Given the description of an element on the screen output the (x, y) to click on. 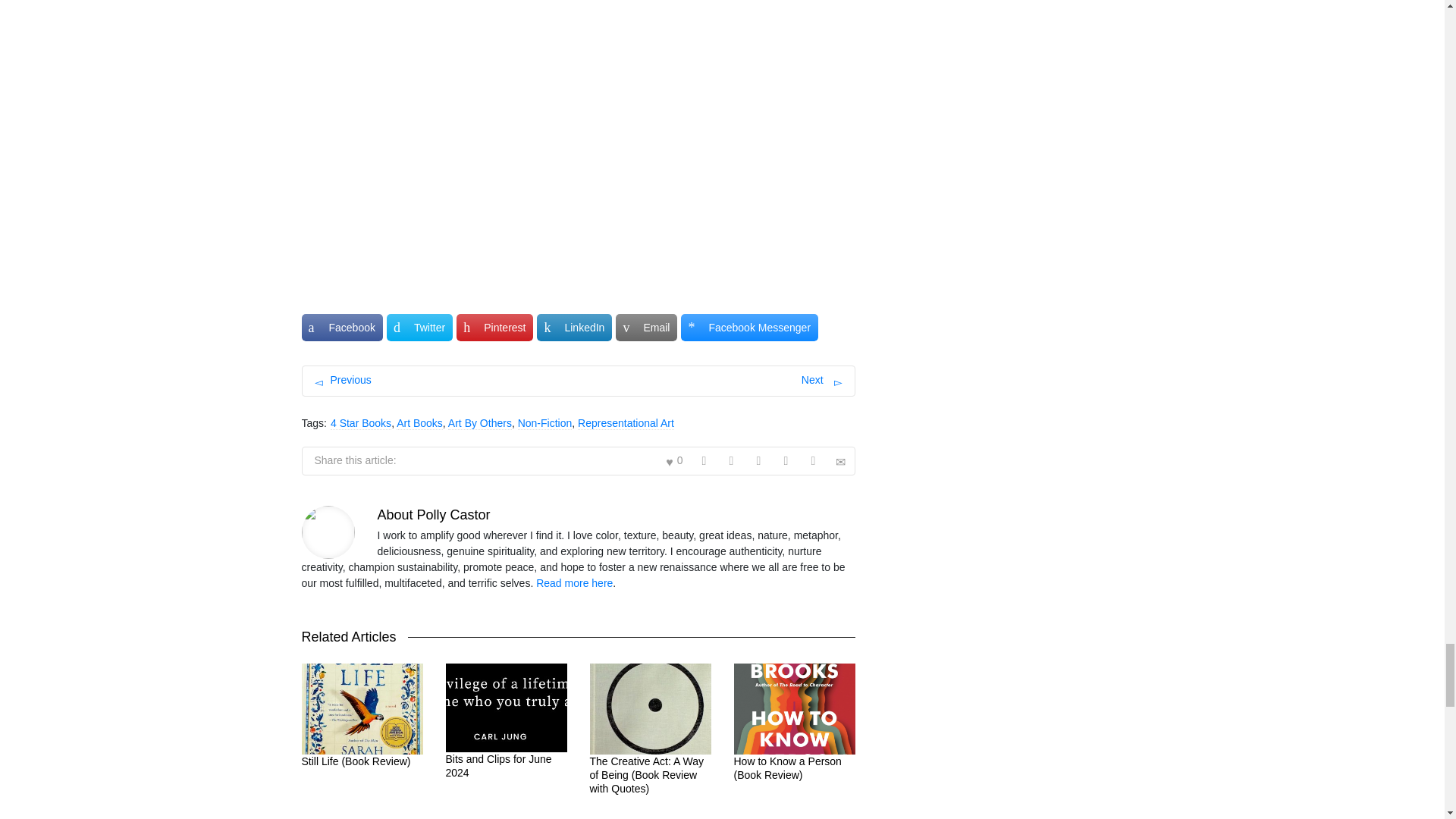
Permanent Link to Bits and Clips for June 2024 (498, 765)
